Given the description of an element on the screen output the (x, y) to click on. 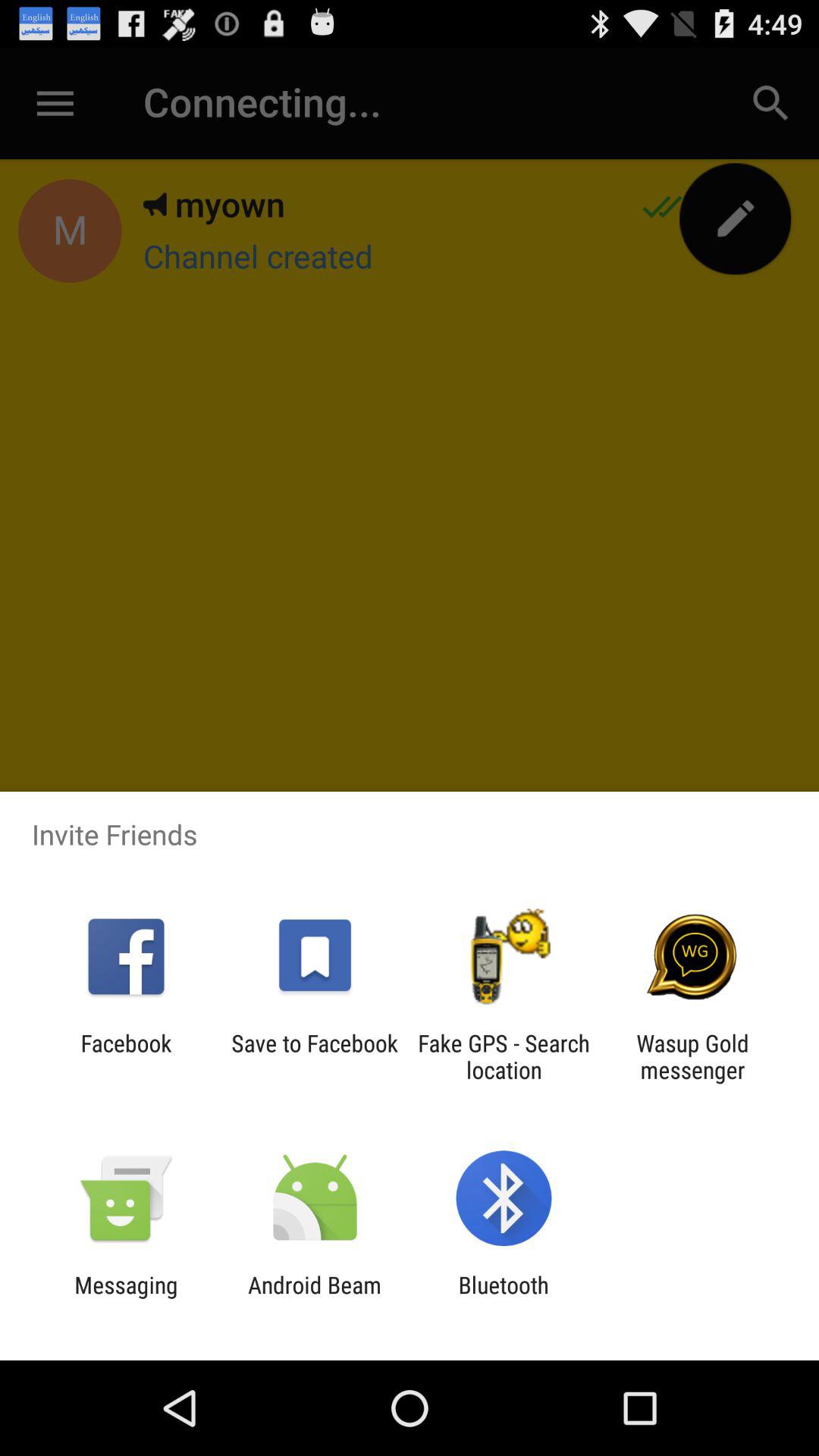
turn off messaging icon (126, 1298)
